Given the description of an element on the screen output the (x, y) to click on. 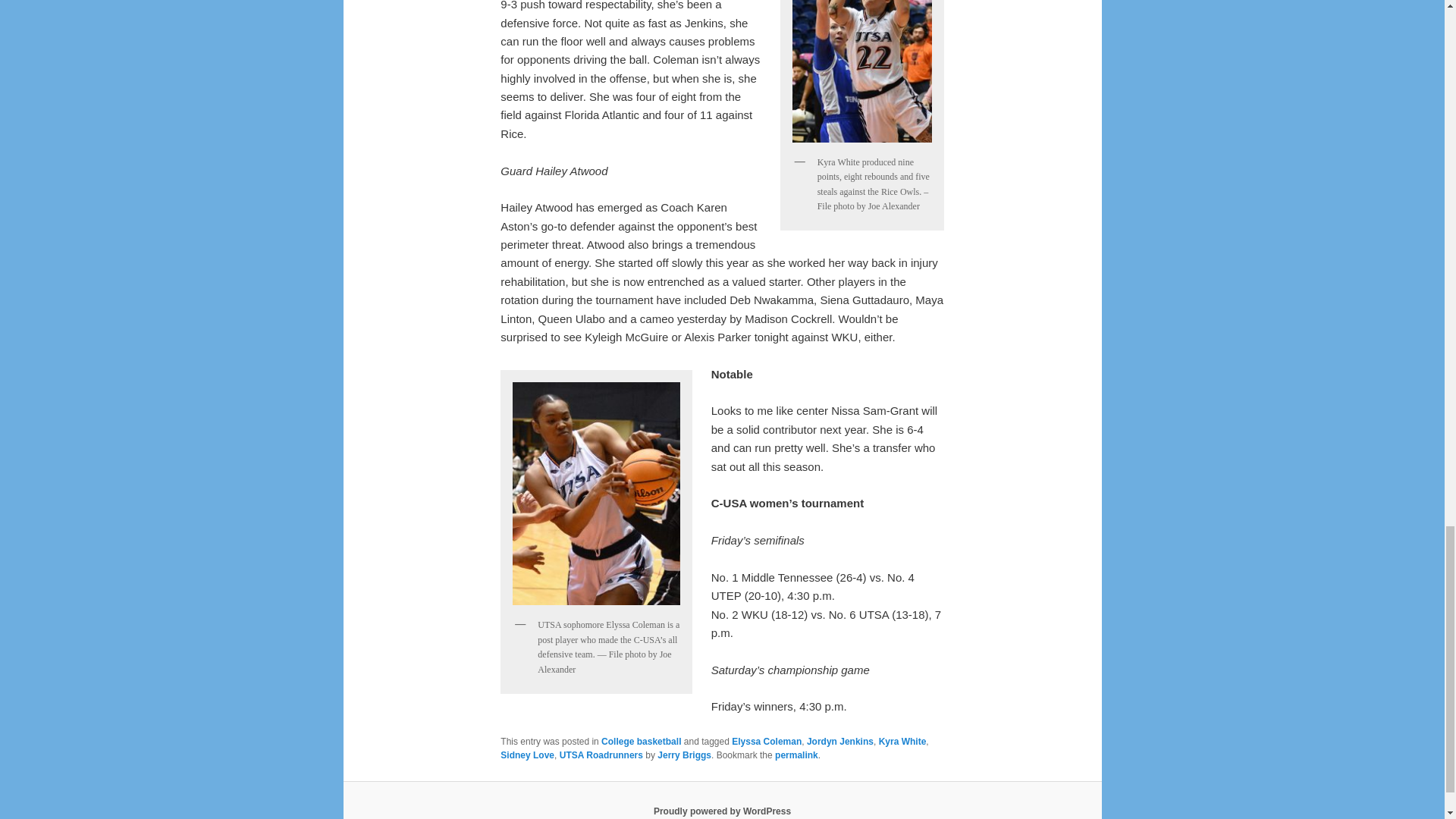
Kyra White (902, 741)
permalink (796, 755)
Semantic Personal Publishing Platform (721, 810)
Jordyn Jenkins (839, 741)
Jerry Briggs (684, 755)
Sidney Love (527, 755)
Elyssa Coleman (767, 741)
Proudly powered by WordPress (721, 810)
UTSA Roadrunners (601, 755)
College basketball (641, 741)
